Given the description of an element on the screen output the (x, y) to click on. 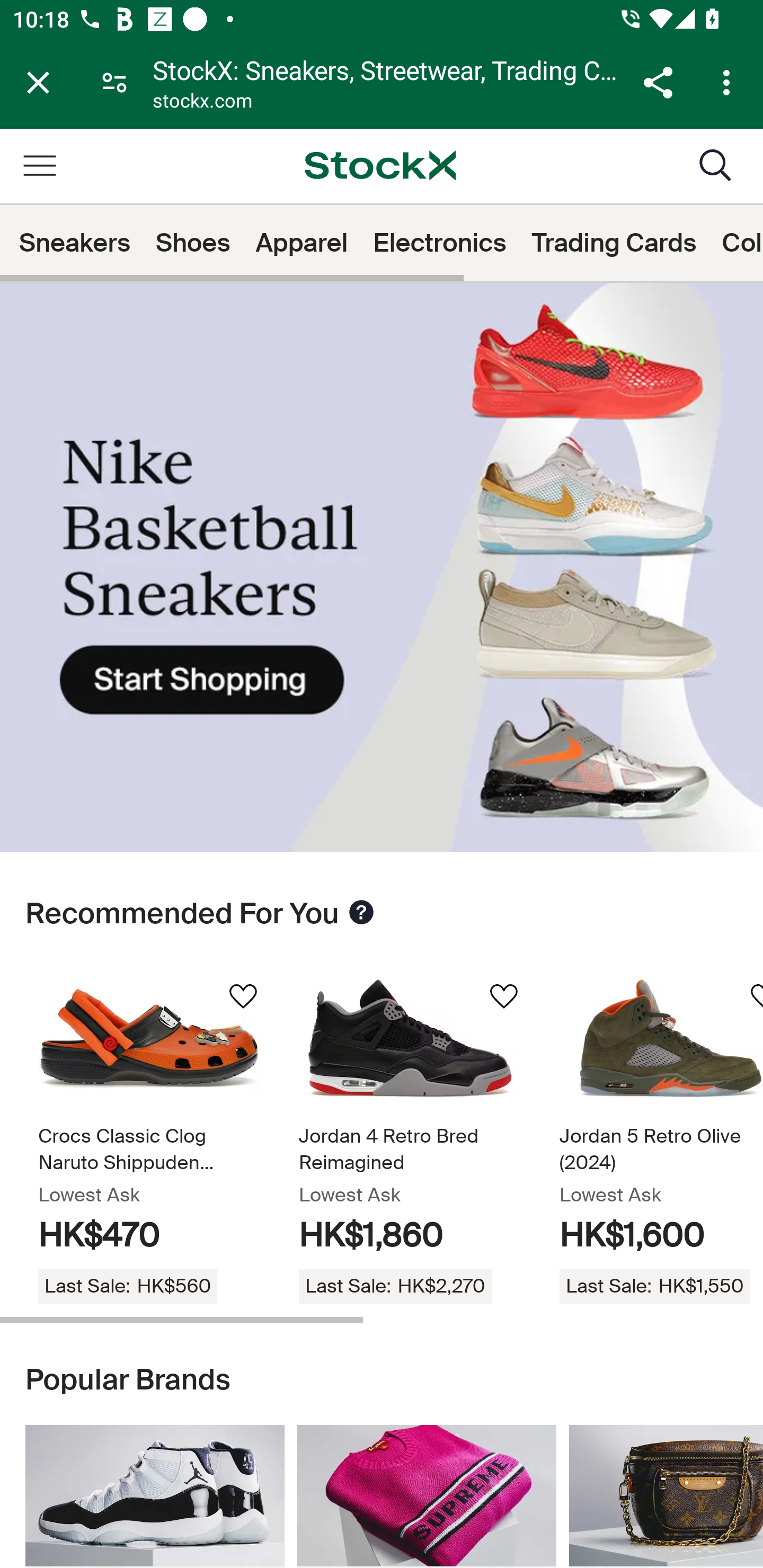
Close tab (38, 82)
Share (657, 82)
Customize and control Google Chrome (729, 82)
Connection is secure (114, 81)
stockx.com (202, 103)
Toggle Navigation (39, 165)
Sneakers (74, 242)
Shoes (192, 242)
Apparel (300, 242)
Electronics (439, 242)
Trading Cards (614, 242)
Recommended For You (361, 913)
Follow (242, 997)
Follow (503, 997)
https://stockx.com/retro-jordans jordan.jpg (154, 1495)
https://stockx.com/supreme supreme.jpg (426, 1495)
https://stockx.com/louis-vuitton lv.jpg (666, 1495)
